Given the description of an element on the screen output the (x, y) to click on. 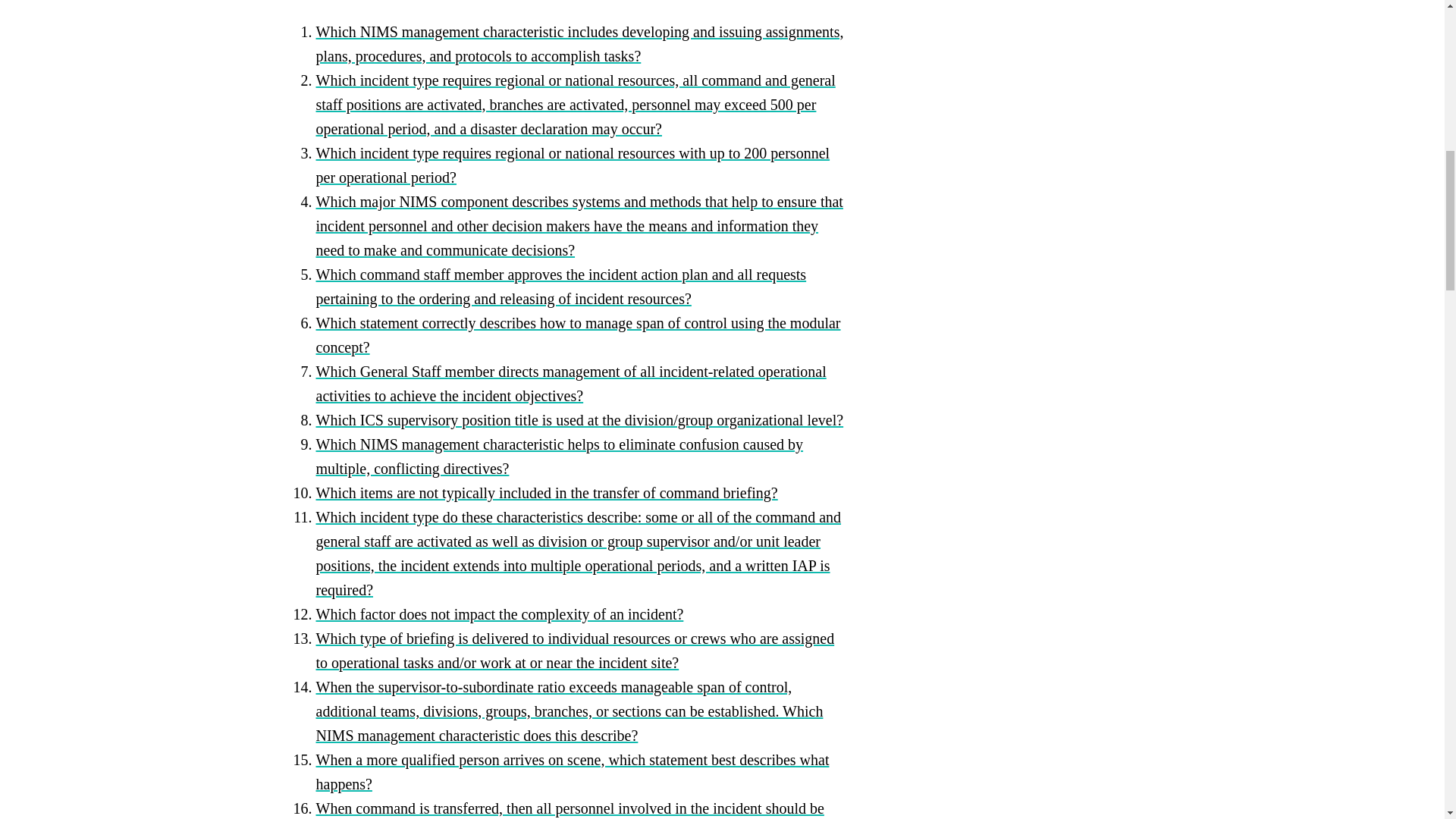
Which factor does not impact the complexity of an incident? (498, 614)
